Given the description of an element on the screen output the (x, y) to click on. 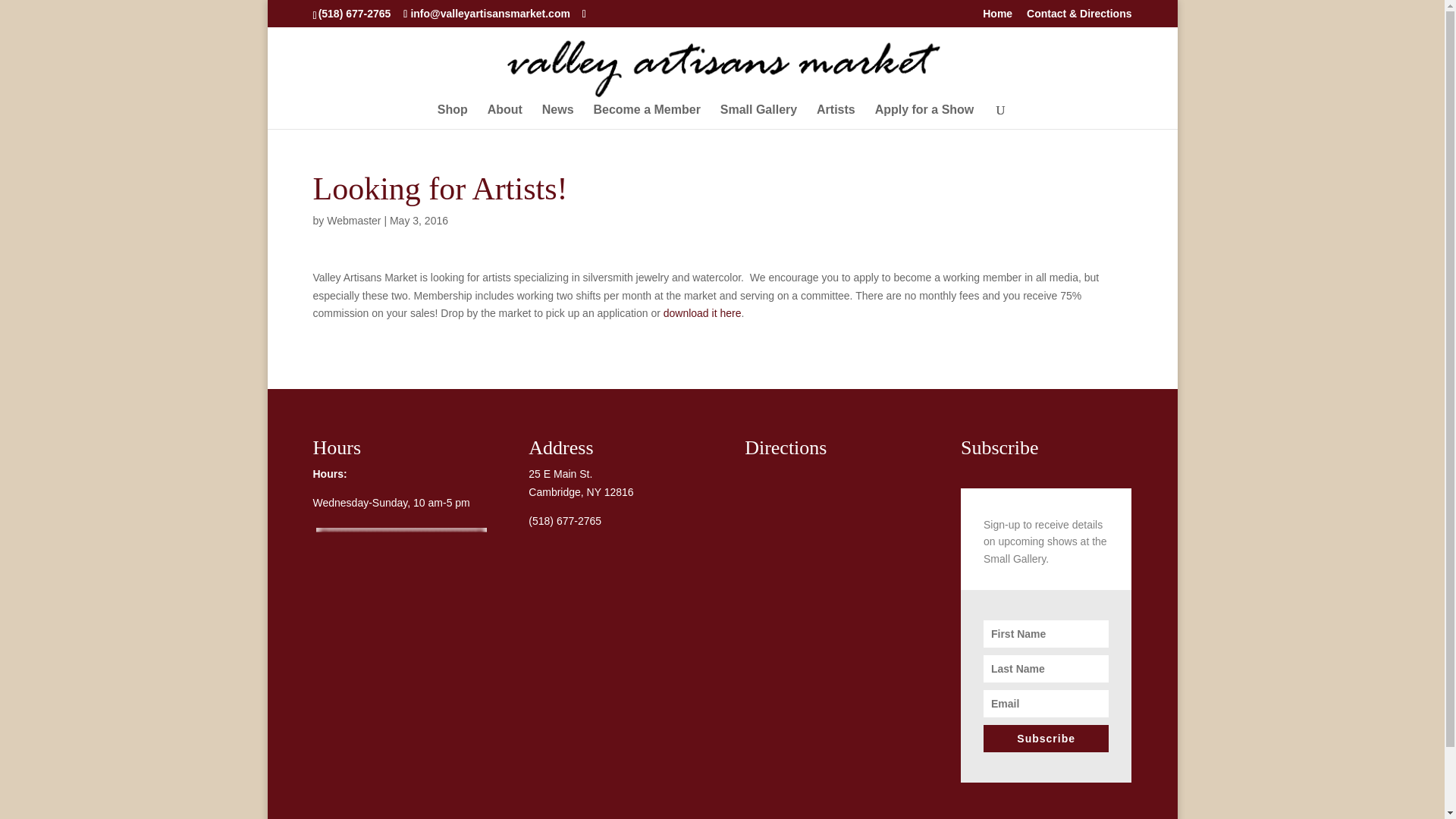
Become a Member (646, 116)
News (557, 116)
Shop (452, 116)
Webmaster (353, 220)
About (504, 116)
Small Gallery (758, 116)
Home (996, 16)
Subscribe (1046, 738)
Artists (836, 116)
Posts by Webmaster (353, 220)
